Given the description of an element on the screen output the (x, y) to click on. 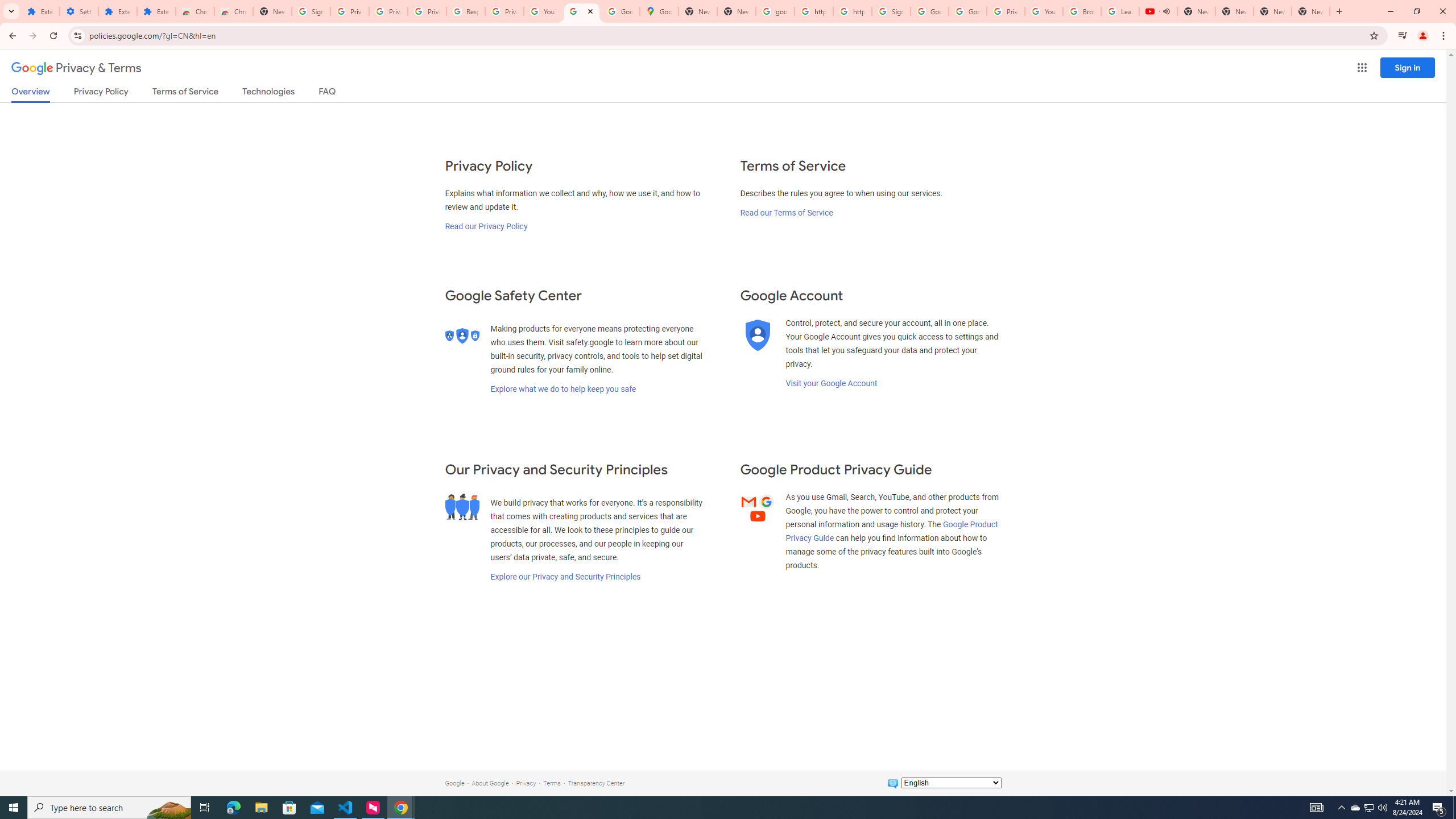
Terms (551, 783)
Overview (30, 94)
Explore what we do to help keep you safe (563, 388)
Google Product Privacy Guide (891, 530)
Change language: (951, 782)
Privacy (525, 783)
Explore our Privacy and Security Principles (565, 576)
